Given the description of an element on the screen output the (x, y) to click on. 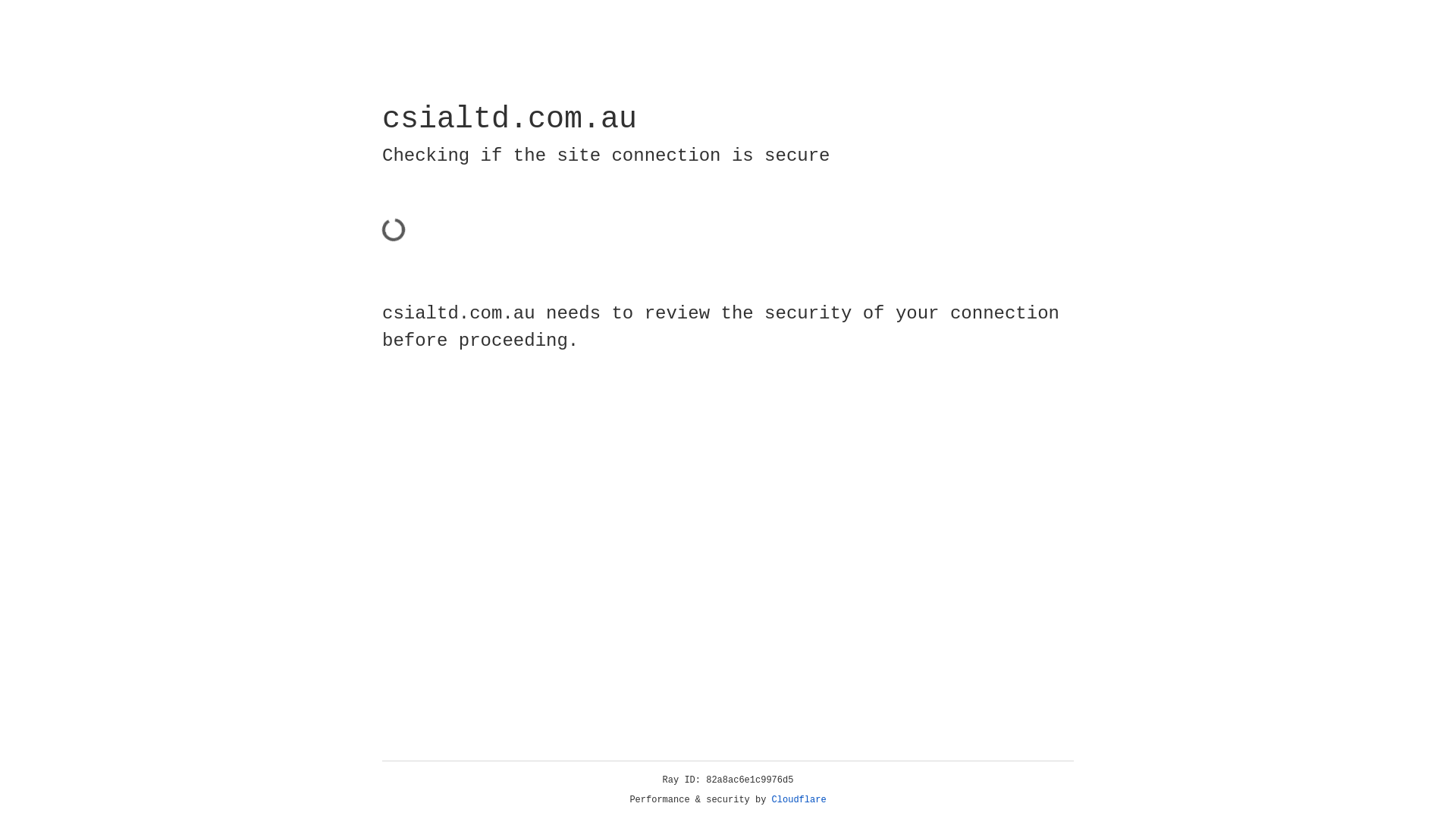
Cloudflare Element type: text (798, 799)
